Given the description of an element on the screen output the (x, y) to click on. 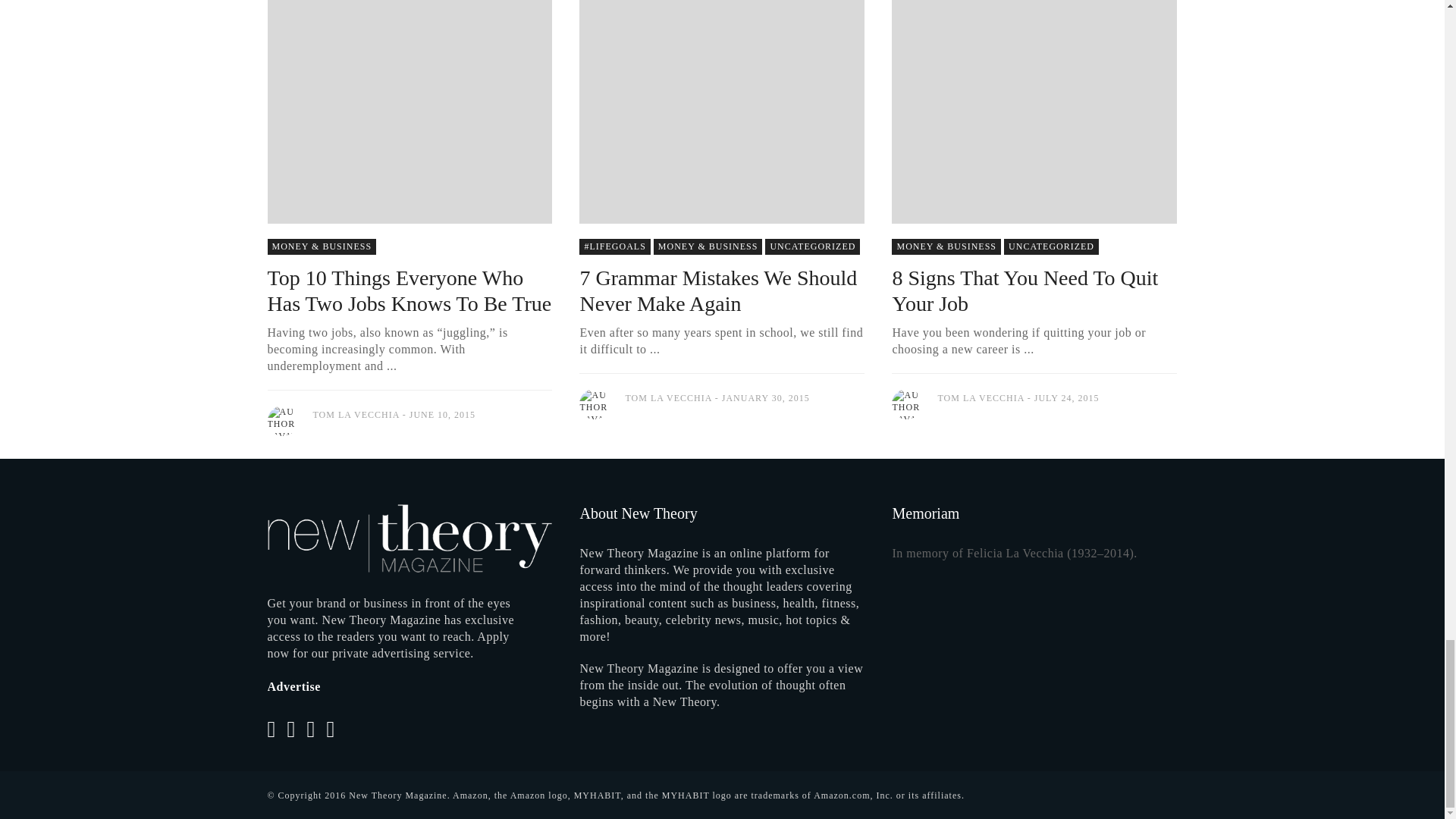
View all posts in 144 (320, 246)
View all posts in 144 (707, 246)
View all posts in 144 (946, 246)
View all posts in 1 (812, 246)
View all posts in 143 (614, 246)
View all posts in 1 (1051, 246)
